Given the description of an element on the screen output the (x, y) to click on. 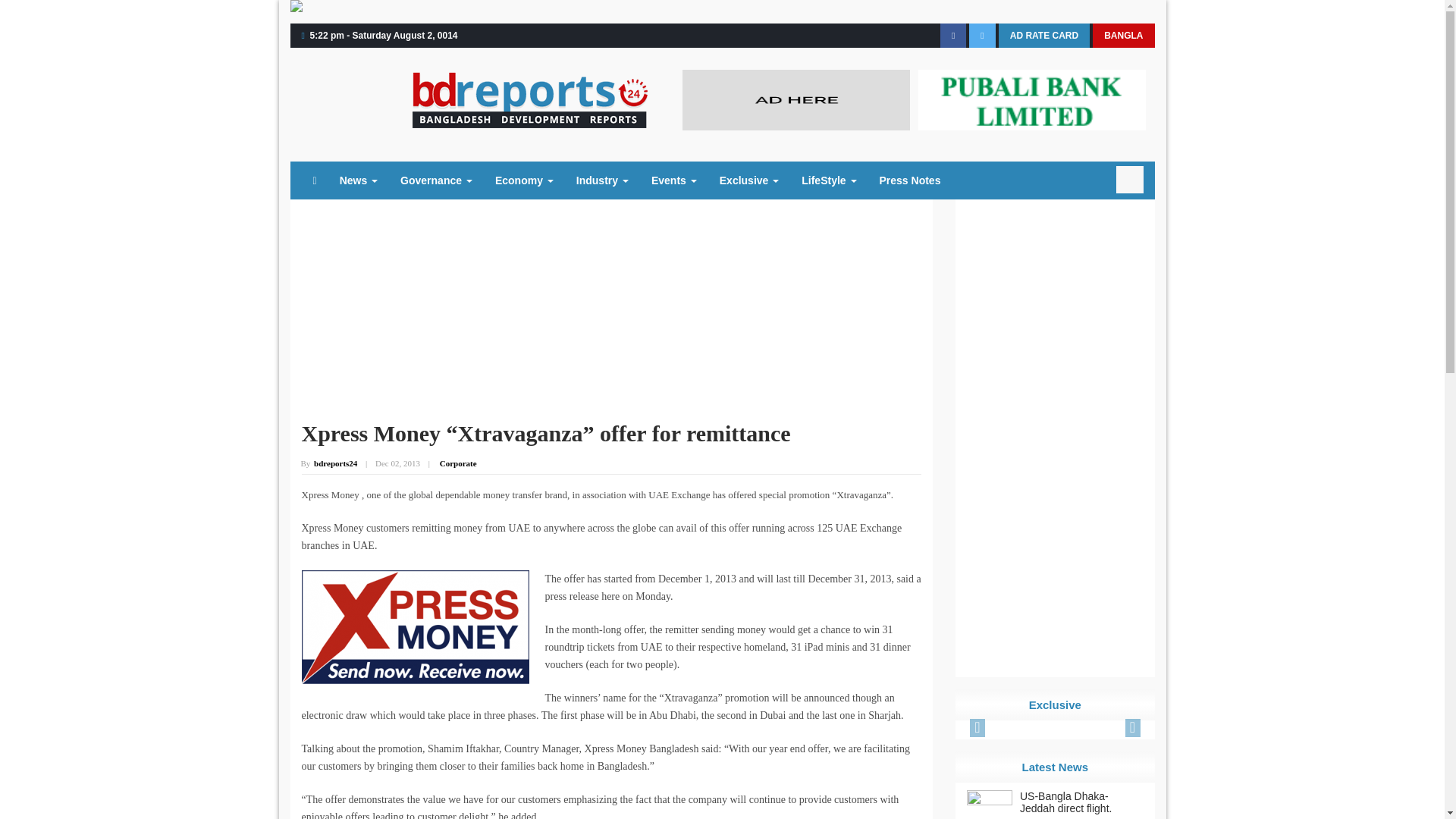
Exclusive (748, 180)
Economy (523, 180)
News (358, 180)
Governance (435, 180)
AD RATE CARD (1043, 35)
Events (673, 180)
BANGLA (1123, 35)
Governance (435, 180)
Economy (523, 180)
Industry (602, 180)
News (358, 180)
search (1129, 179)
